Given the description of an element on the screen output the (x, y) to click on. 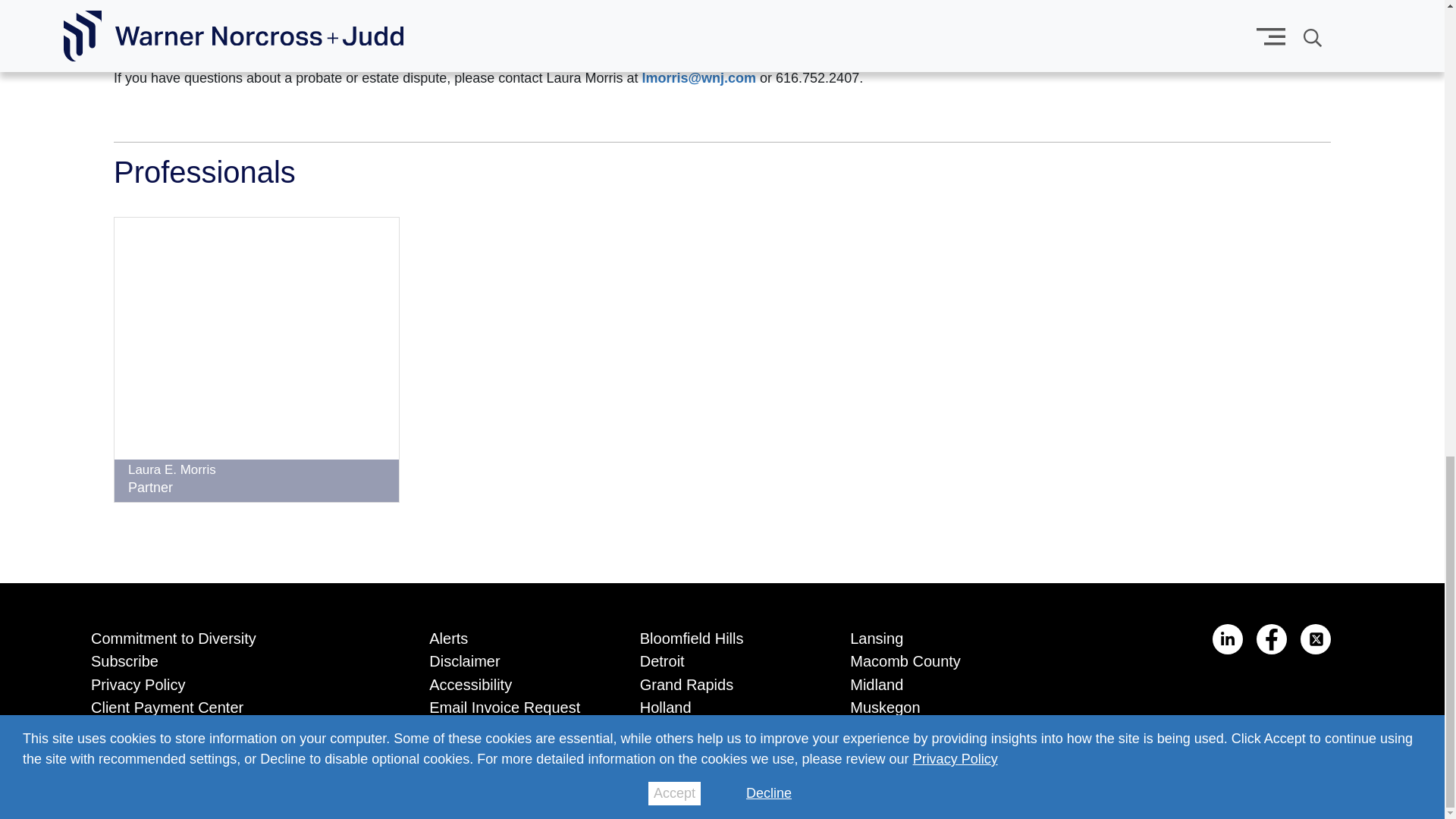
Email Invoice Request (511, 704)
Site By Content Pilot (1341, 785)
Alerts (511, 635)
Bloomfield Hills (722, 635)
Commitment to Diversity (237, 635)
Twitter (1315, 639)
Privacy Policy (237, 681)
Linkedin (1227, 639)
Subscribe (237, 658)
Client Payment Center (237, 704)
Laura E. Morris (171, 469)
Accessibility (511, 681)
Disclaimer (511, 658)
Facebook (1271, 639)
